Given the description of an element on the screen output the (x, y) to click on. 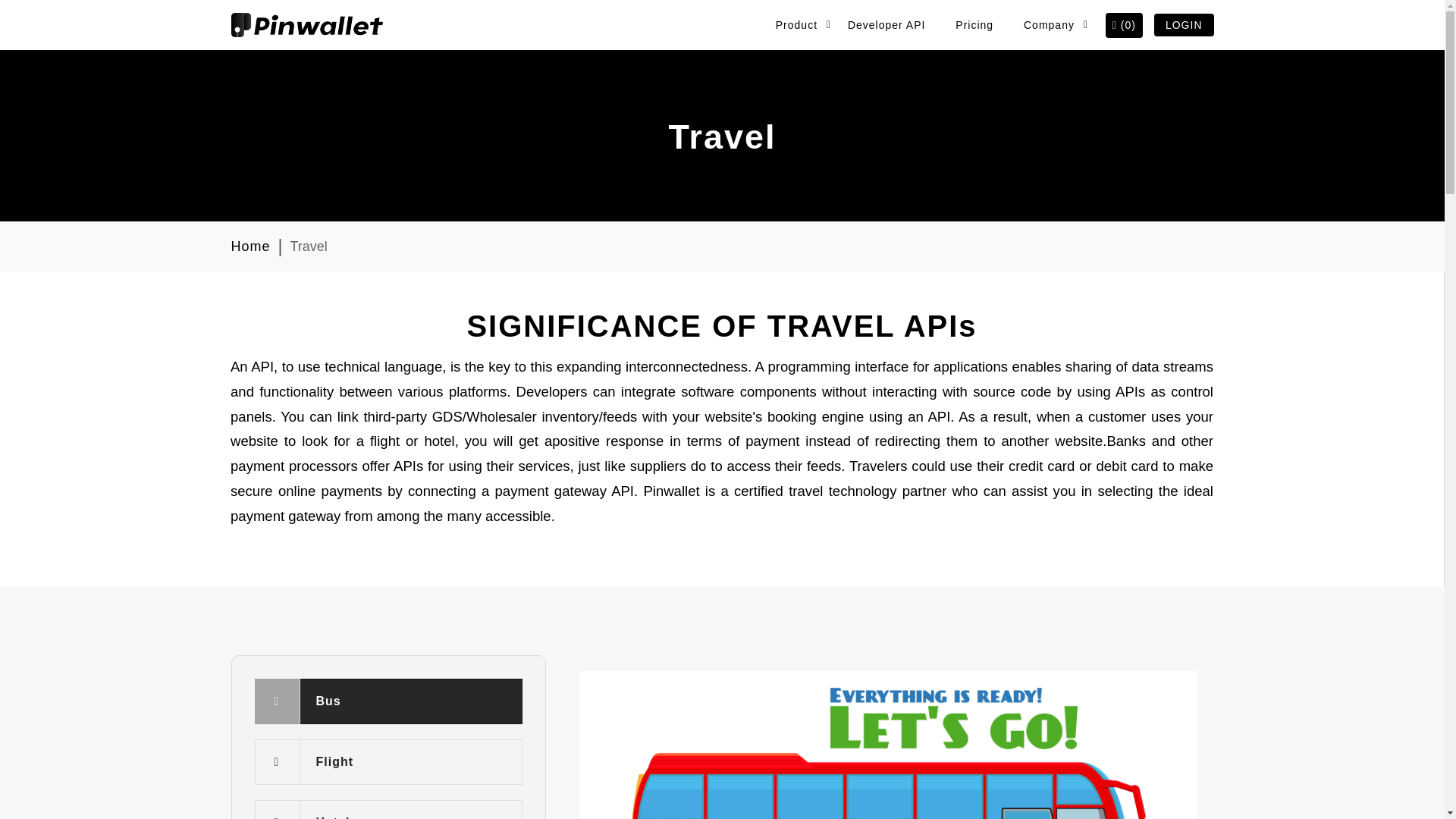
Company (1048, 24)
LOGIN (1184, 24)
Flight (388, 761)
Bus (388, 700)
Product (796, 24)
Pricing (974, 24)
Developer API (886, 24)
Home (249, 246)
Hotel (388, 809)
